Given the description of an element on the screen output the (x, y) to click on. 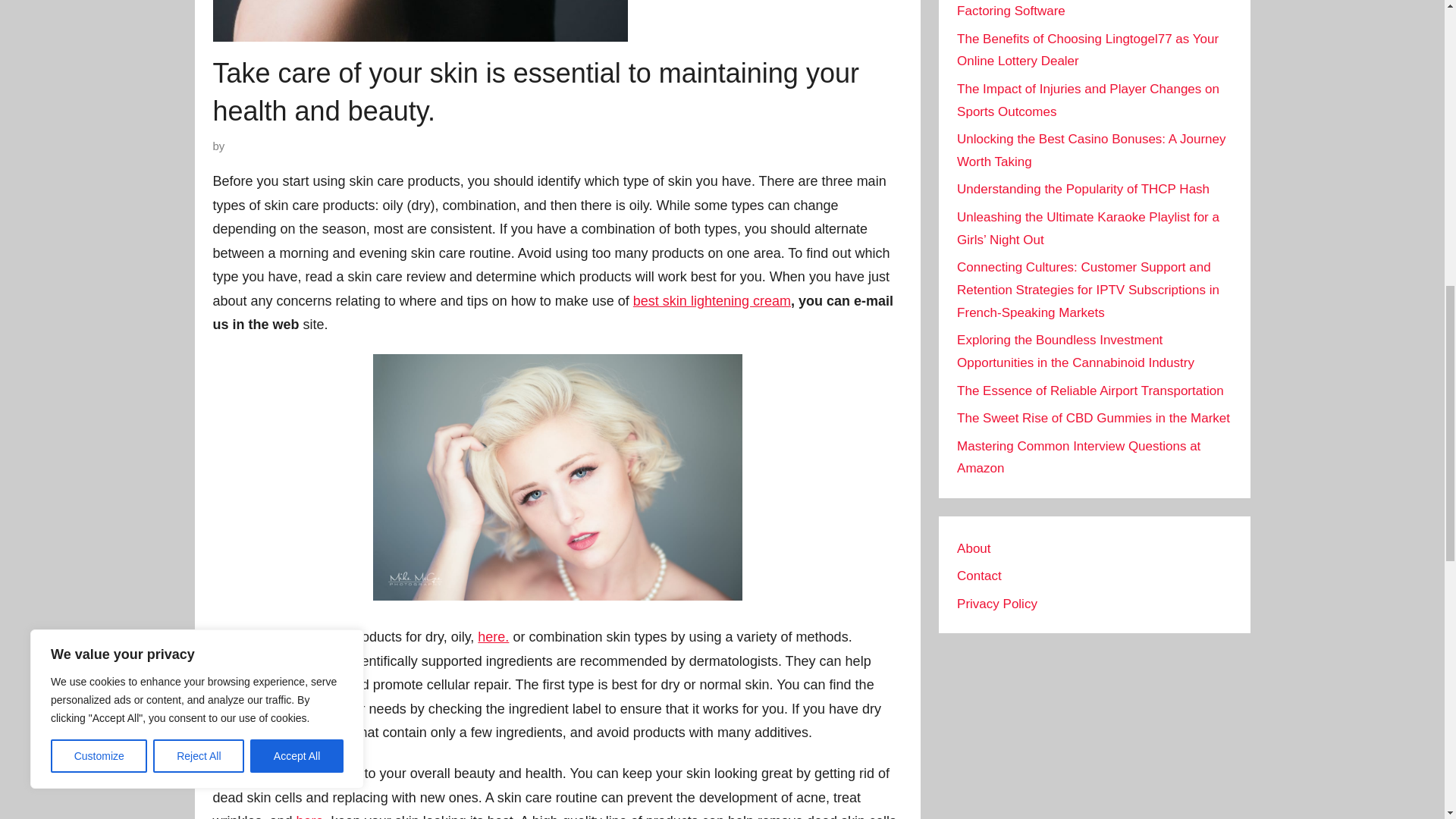
best skin lightening cream (711, 300)
here. (312, 816)
here. (492, 636)
